Given the description of an element on the screen output the (x, y) to click on. 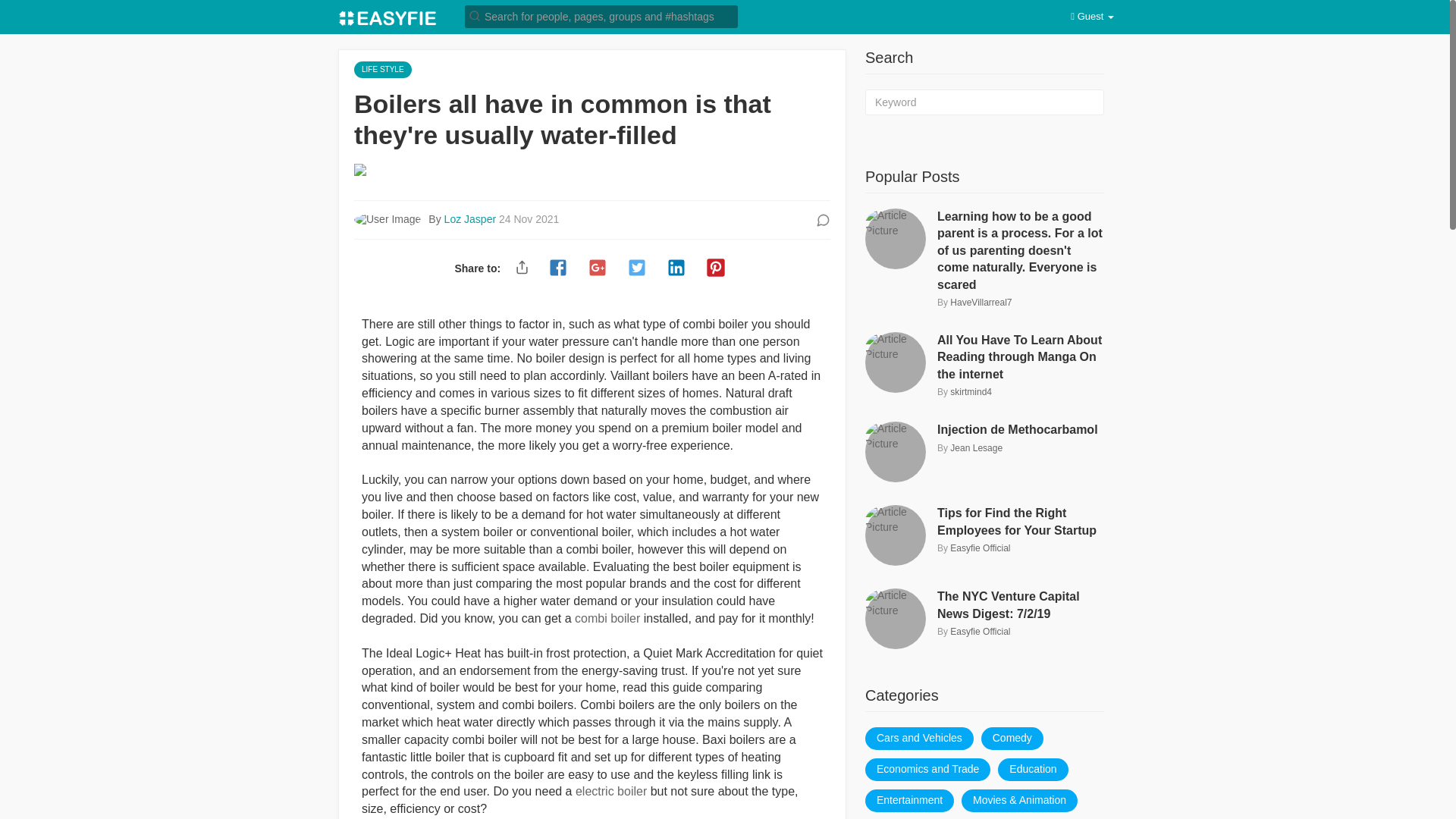
Linkedin (676, 268)
Facebook (557, 268)
Pinterest (715, 268)
Guest (1091, 17)
Loz Jasper (471, 218)
electric boiler (610, 790)
LIFE STYLE (382, 68)
Twitter (636, 268)
combi boiler (607, 617)
